Given the description of an element on the screen output the (x, y) to click on. 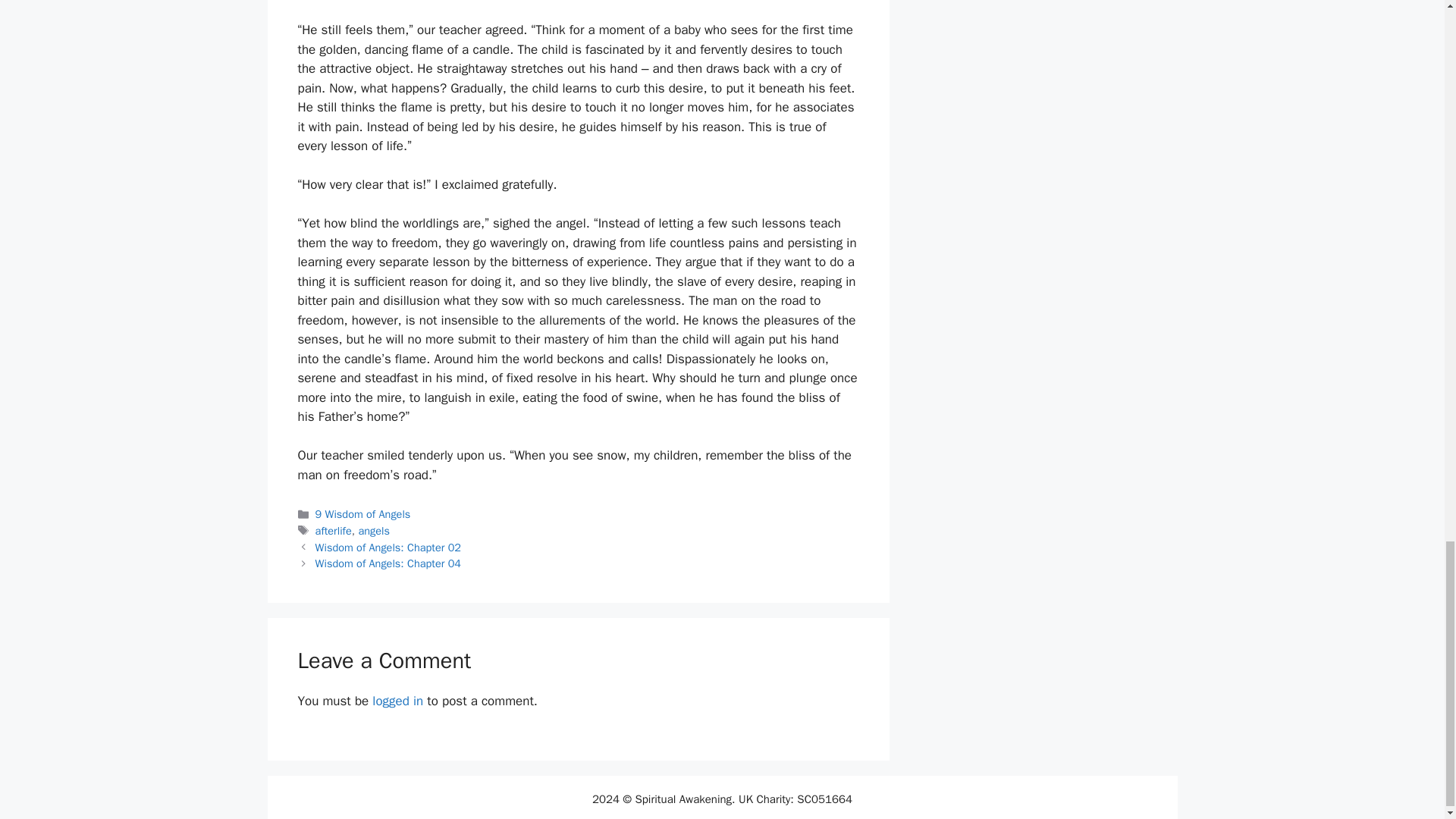
afterlife (333, 530)
logged in (397, 700)
Previous (388, 547)
angels (374, 530)
9 Wisdom of Angels (362, 513)
Wisdom of Angels: Chapter 04 (388, 563)
Next (388, 563)
Wisdom of Angels: Chapter 02 (388, 547)
